Given the description of an element on the screen output the (x, y) to click on. 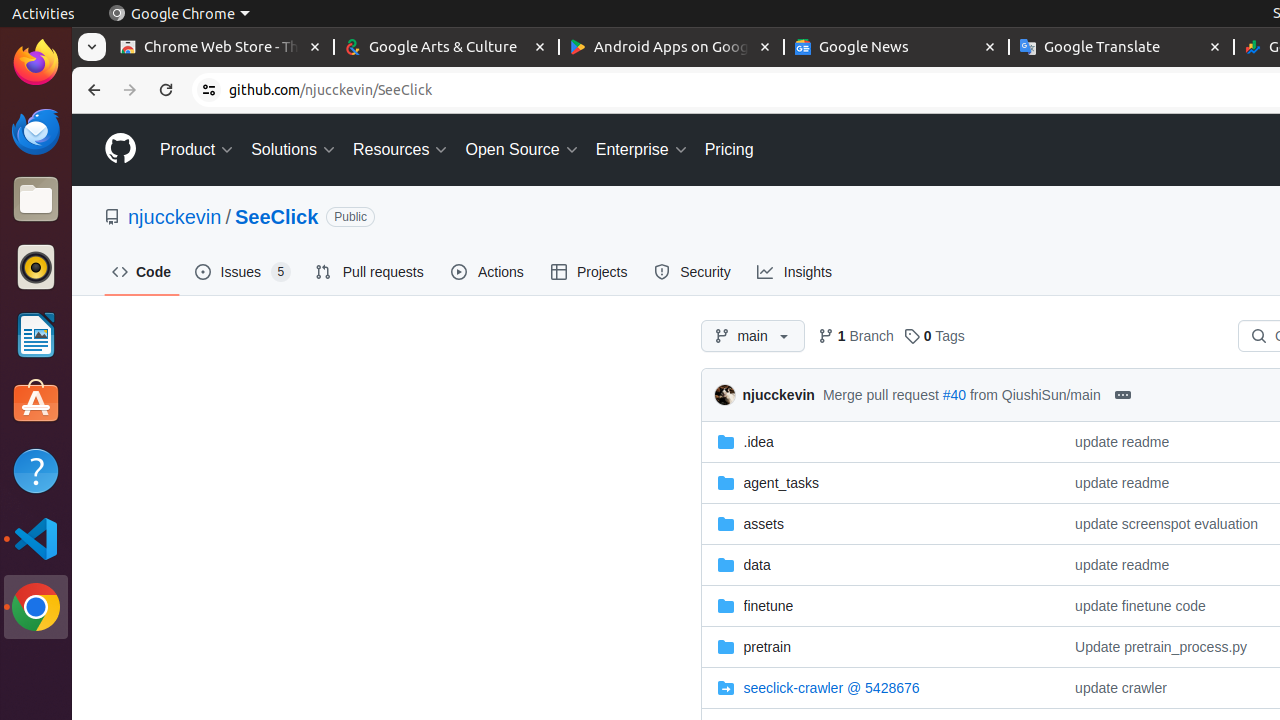
Open commit details Element type: toggle-button (1122, 395)
pretrain, (Directory) Element type: table-cell (880, 646)
Merge pull request Element type: link (880, 394)
pretrain, (Directory) Element type: link (767, 646)
